Given the description of an element on the screen output the (x, y) to click on. 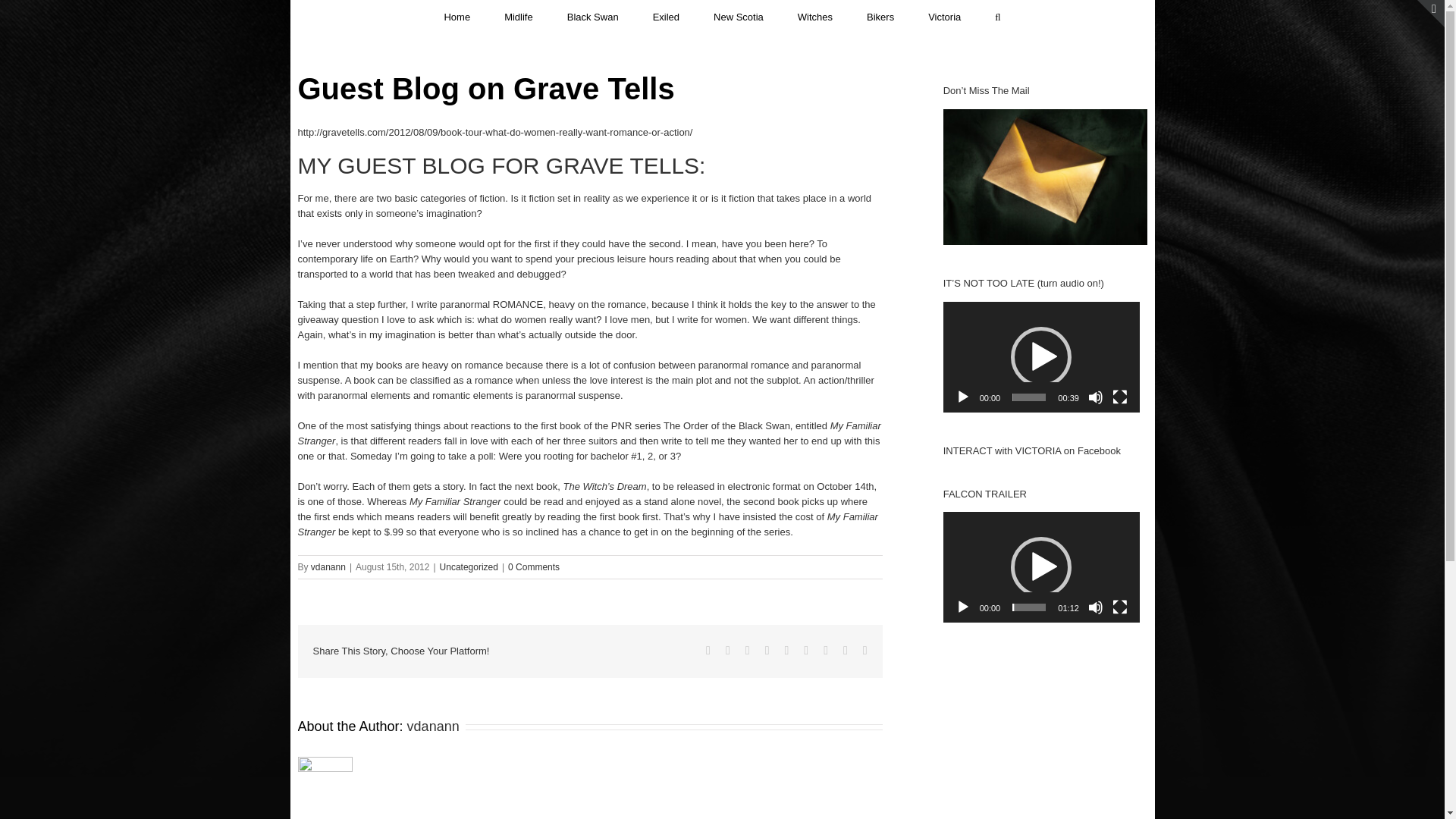
Mute (1095, 396)
New Scotia (737, 15)
Black Swan (592, 15)
Fullscreen (1119, 396)
Play (963, 396)
Midlife (517, 15)
Posts by vdanann (433, 726)
Bikers (879, 15)
Posts by vdanann (328, 566)
Witches (814, 15)
